Given the description of an element on the screen output the (x, y) to click on. 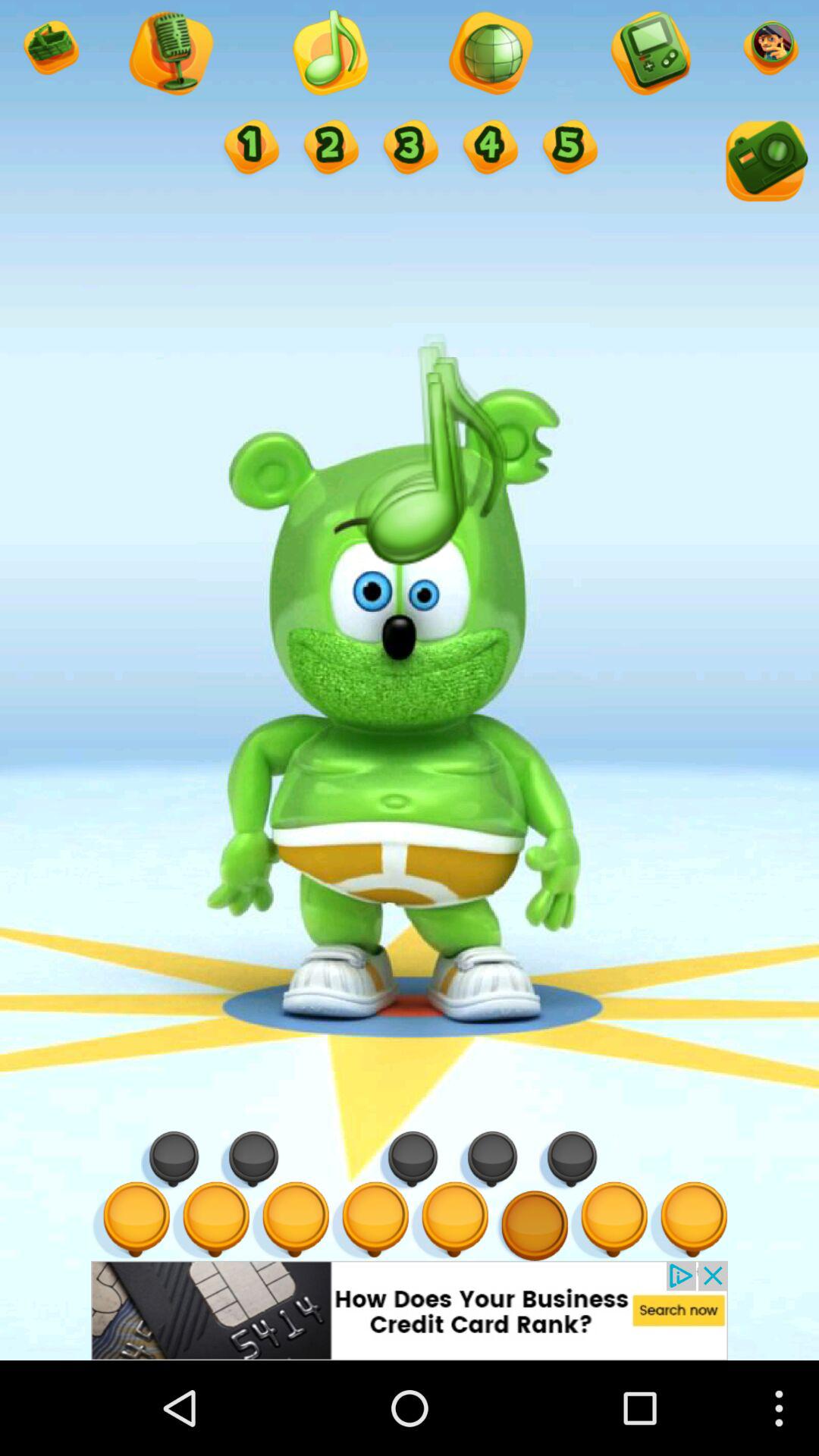
click the advertisements options (409, 1310)
